Given the description of an element on the screen output the (x, y) to click on. 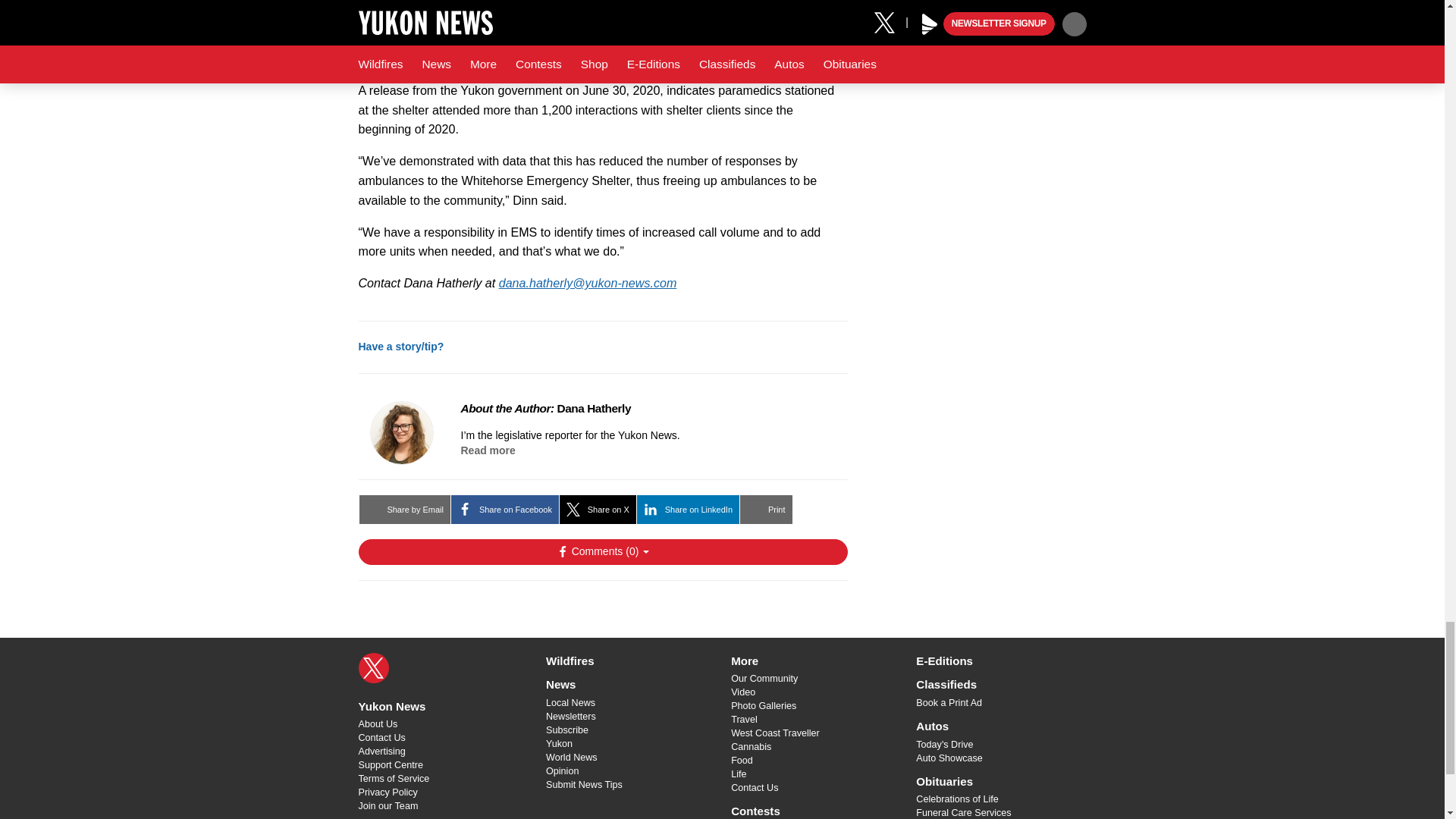
Show Comments (602, 551)
X (373, 667)
